Given the description of an element on the screen output the (x, y) to click on. 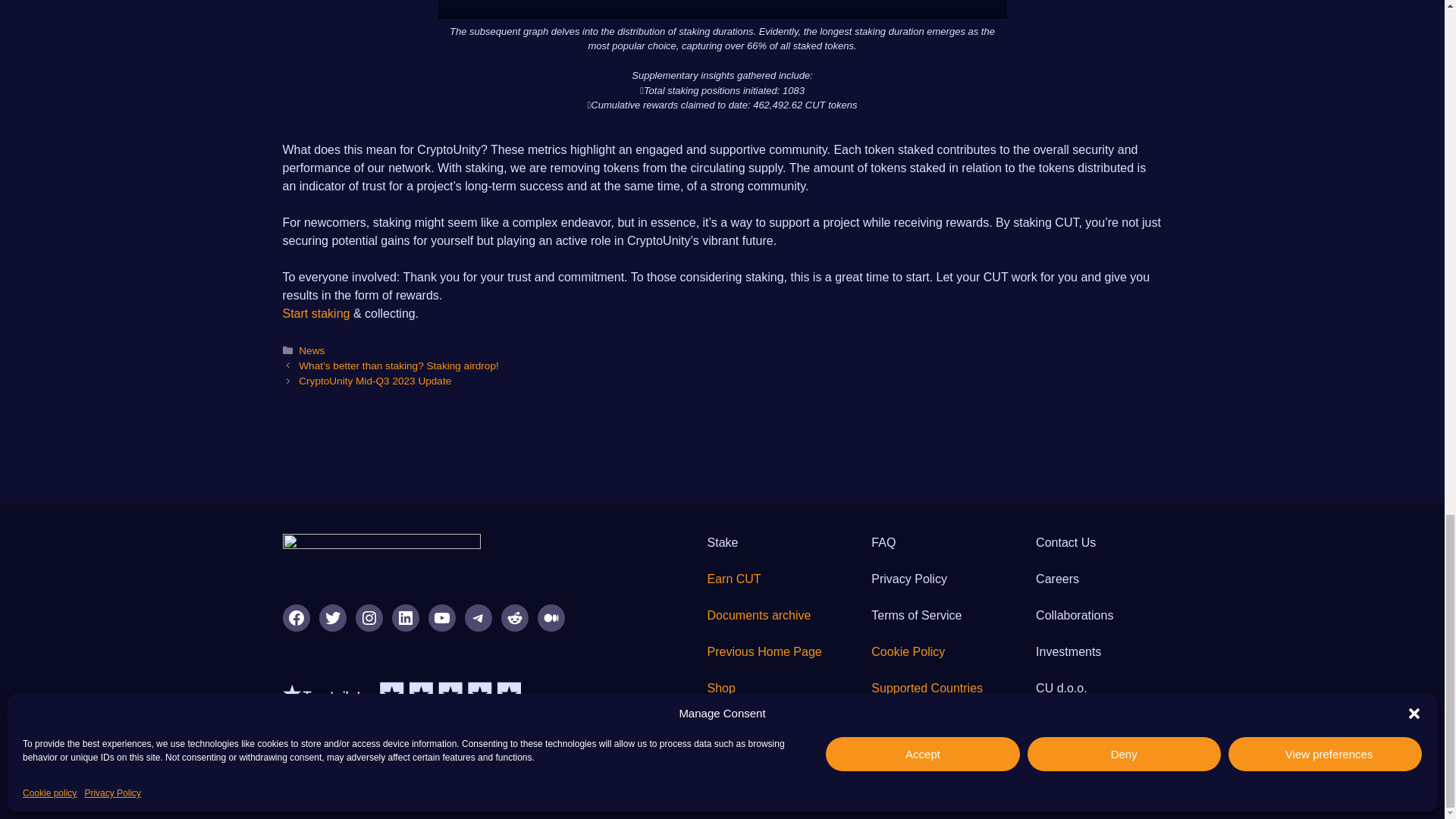
Start staking (315, 313)
Logo (381, 553)
Earn CUT (734, 578)
Reddit (513, 617)
YouTube (441, 617)
Stake (722, 542)
Telegram (478, 617)
News (311, 350)
Twitter (332, 617)
Instagram (368, 617)
CryptoUnity Mid-Q3 2023 Update (374, 380)
LinkedIn (405, 617)
Medium (550, 617)
